Given the description of an element on the screen output the (x, y) to click on. 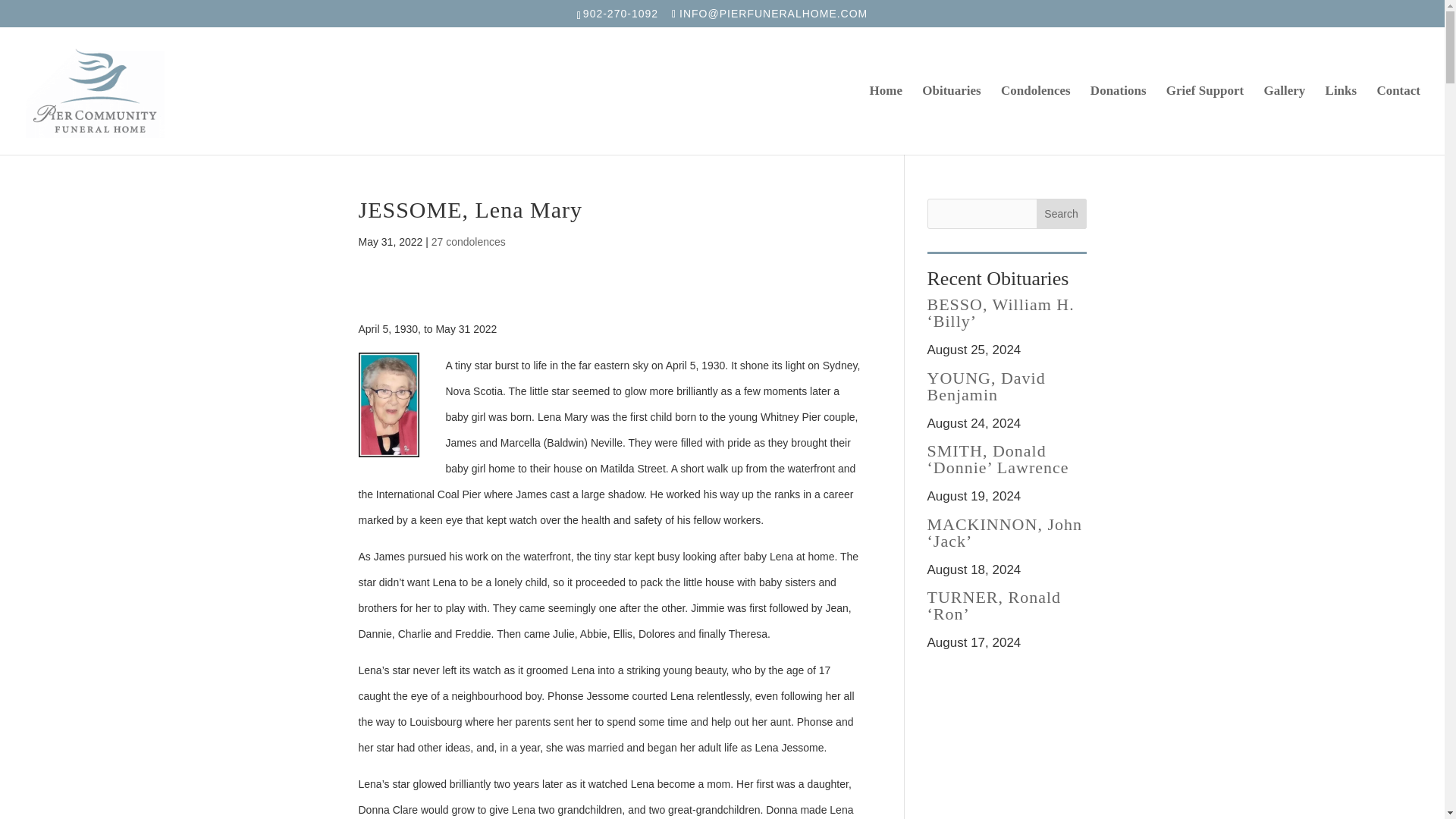
Condolences (1035, 119)
902-270-1092 (622, 13)
Grief Support (1204, 119)
27 condolences (467, 241)
